Given the description of an element on the screen output the (x, y) to click on. 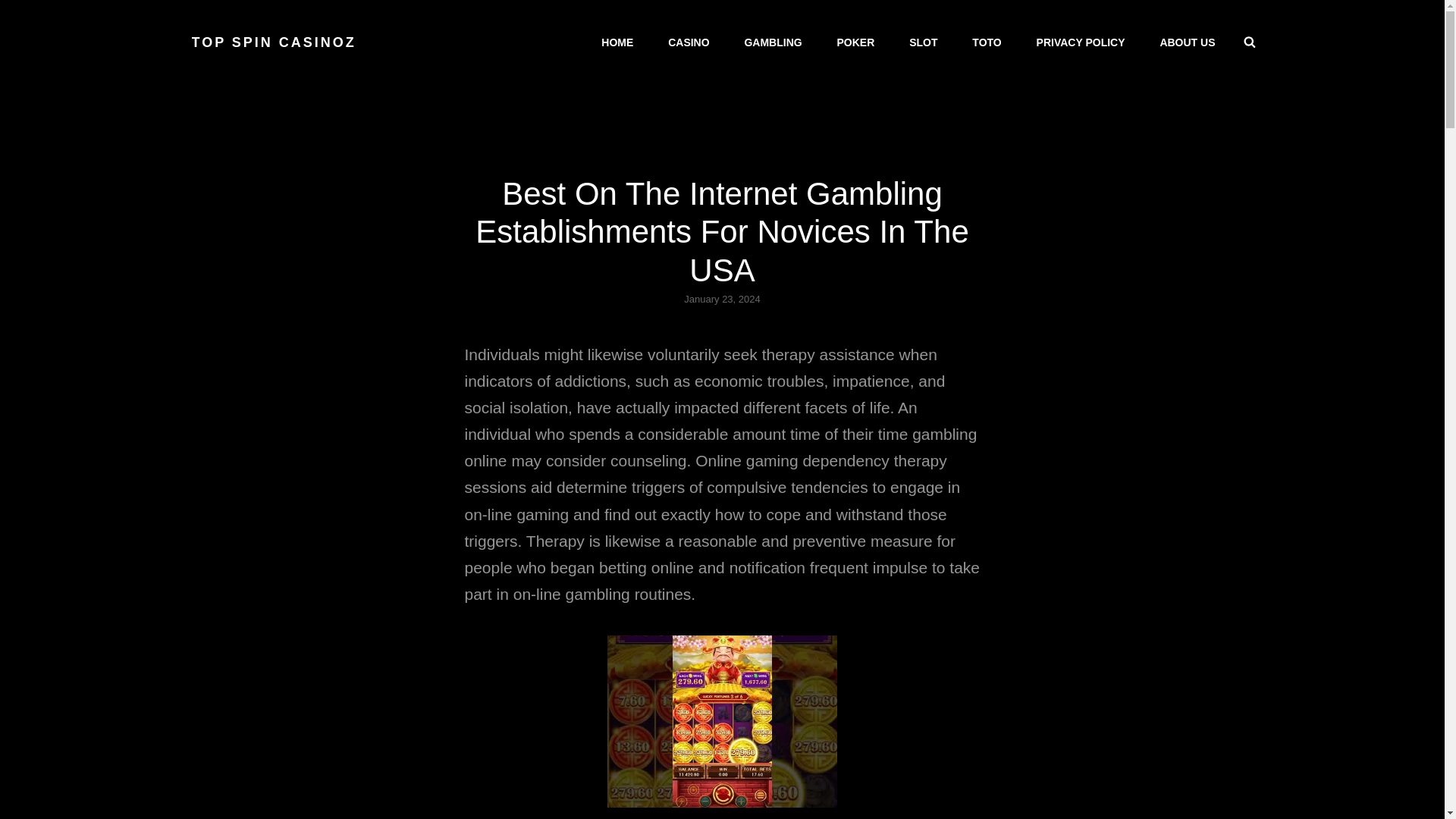
GAMBLING (772, 42)
TOTO (986, 42)
SLOT (922, 42)
POKER (855, 42)
TOP SPIN CASINOZ (272, 42)
January 23, 2024 (722, 298)
ABOUT US (1187, 42)
CASINO (687, 42)
HOME (616, 42)
PRIVACY POLICY (1081, 42)
